Given the description of an element on the screen output the (x, y) to click on. 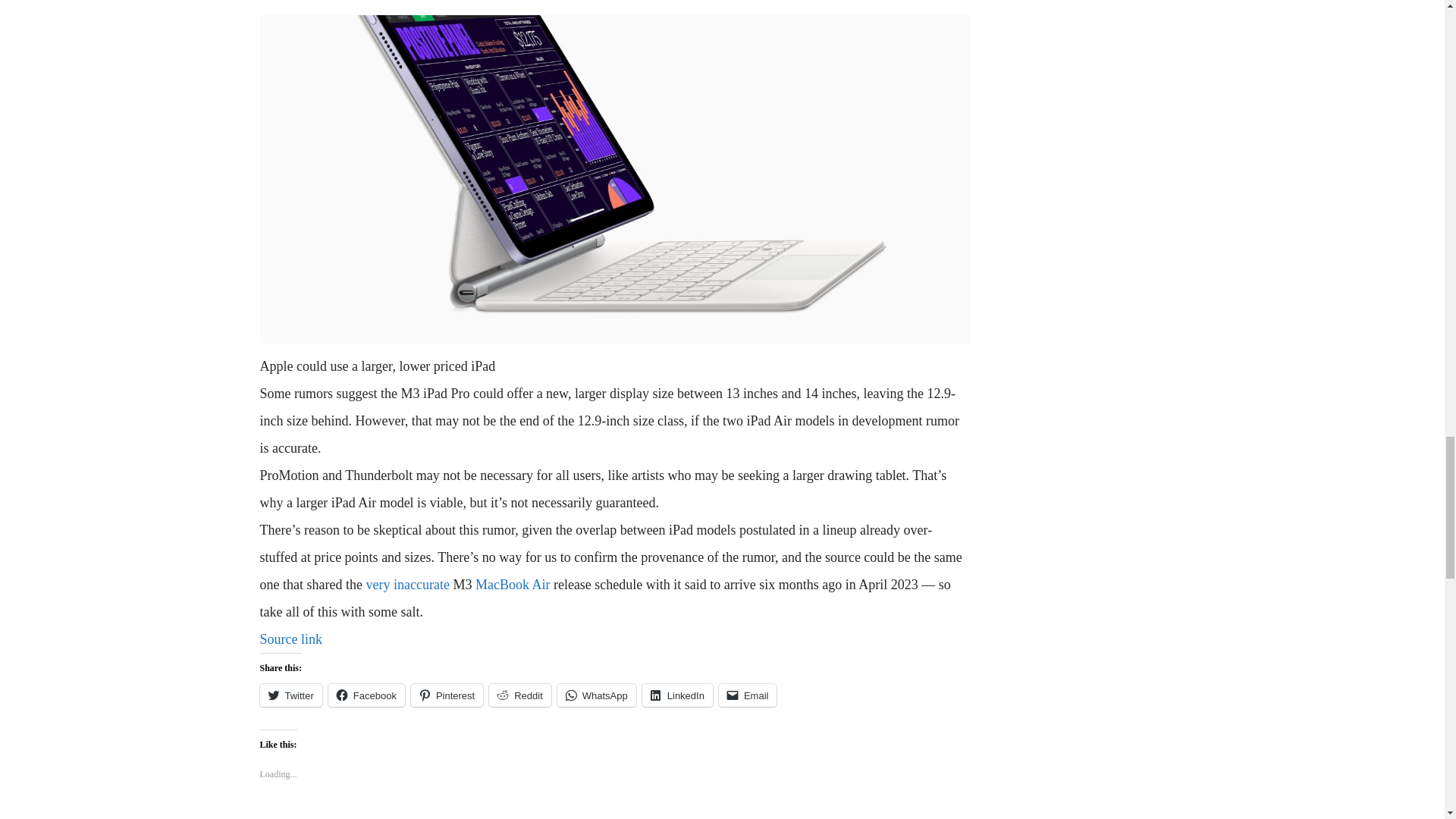
Click to share on LinkedIn (677, 694)
LinkedIn (677, 694)
Click to share on Reddit (520, 694)
MacBook Air (513, 584)
Facebook (366, 694)
Click to share on Pinterest (446, 694)
Twitter (290, 694)
very inaccurate (406, 584)
Click to share on Twitter (290, 694)
Click to email a link to a friend (748, 694)
Source link (290, 639)
Click to share on Facebook (366, 694)
Email (748, 694)
Reddit (520, 694)
MacBook Air (513, 584)
